Given the description of an element on the screen output the (x, y) to click on. 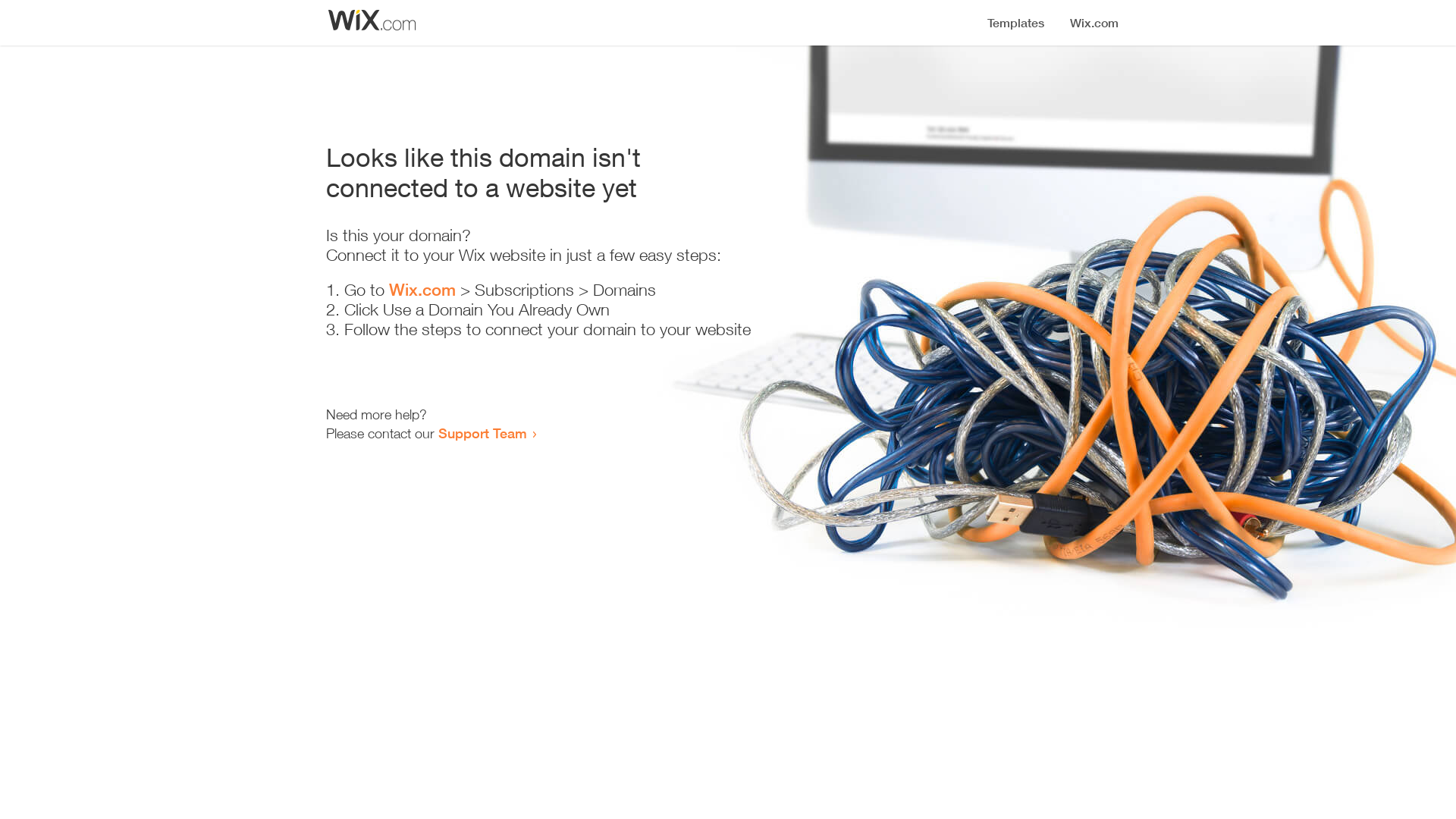
Support Team Element type: text (482, 432)
Wix.com Element type: text (422, 289)
